Given the description of an element on the screen output the (x, y) to click on. 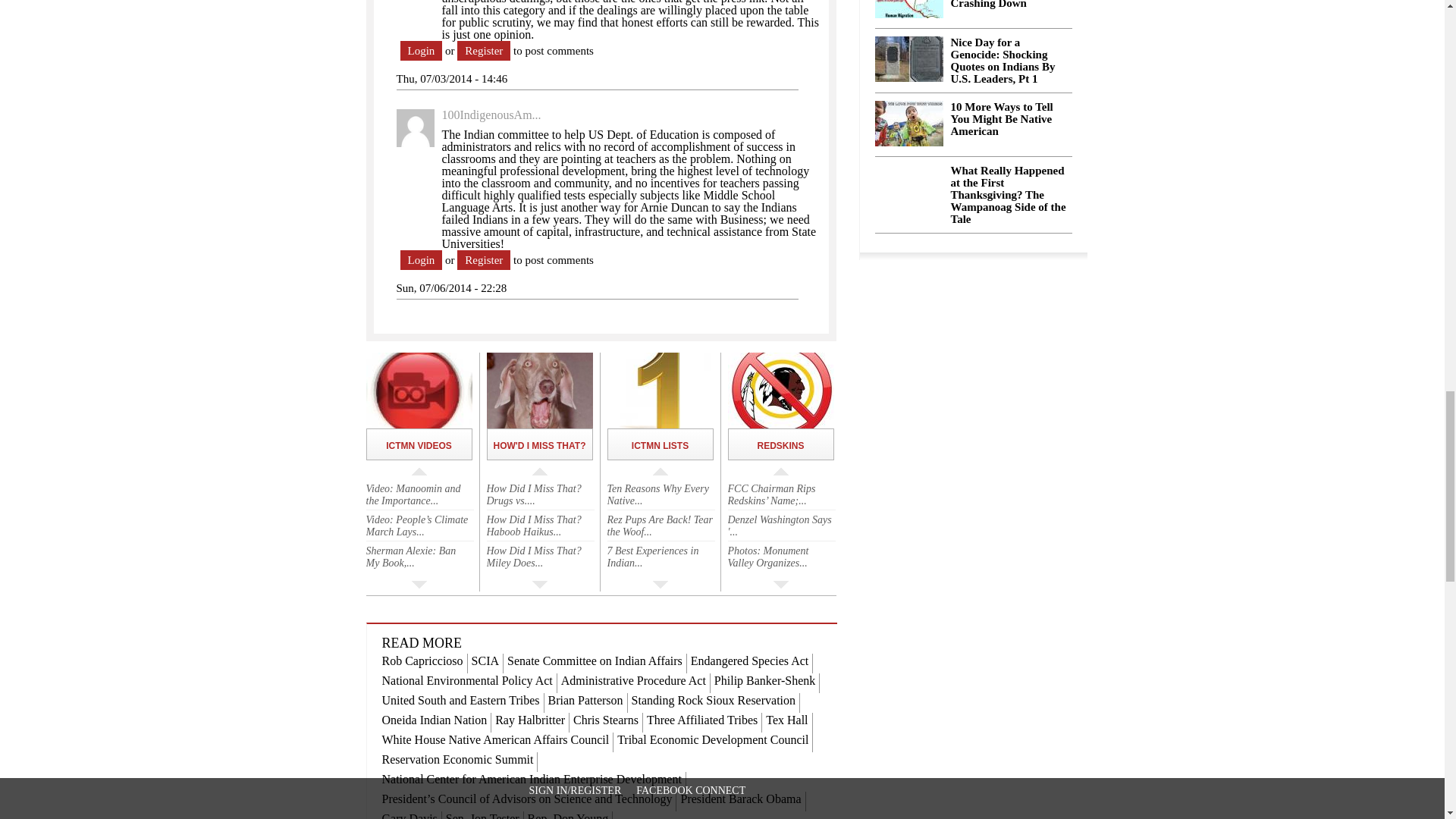
100IndigenousAmerican's picture (414, 127)
